Given the description of an element on the screen output the (x, y) to click on. 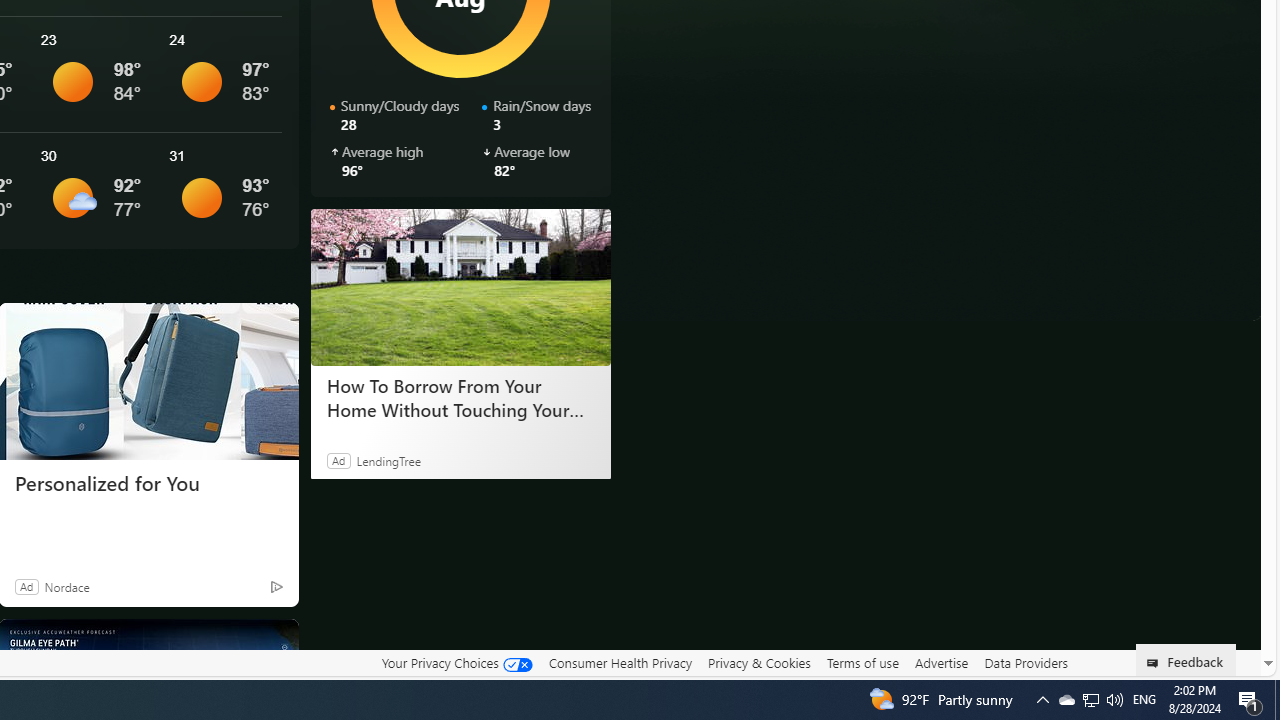
Terms of use (861, 663)
